Given the description of an element on the screen output the (x, y) to click on. 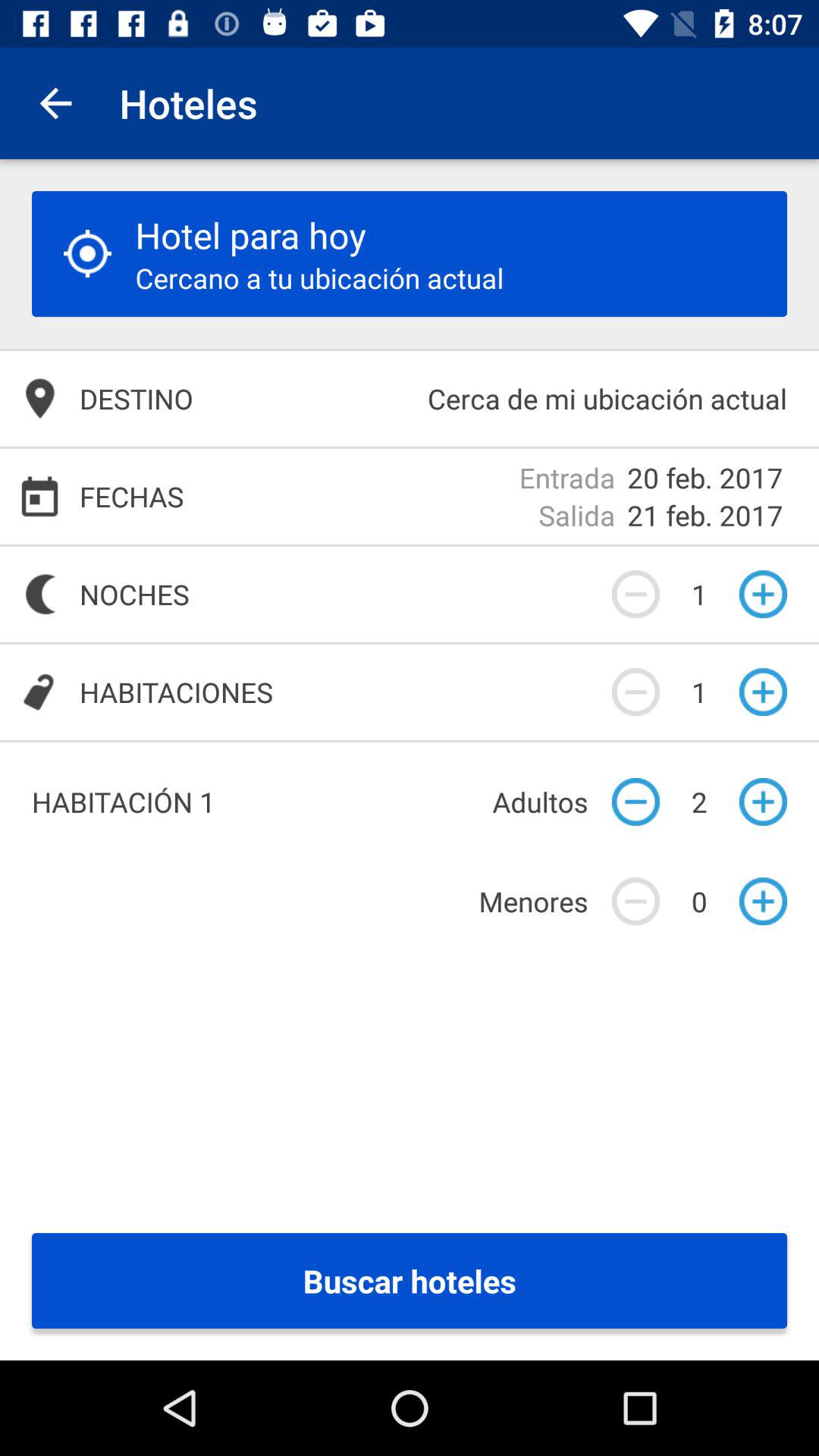
jump to buscar hoteles (409, 1280)
